Given the description of an element on the screen output the (x, y) to click on. 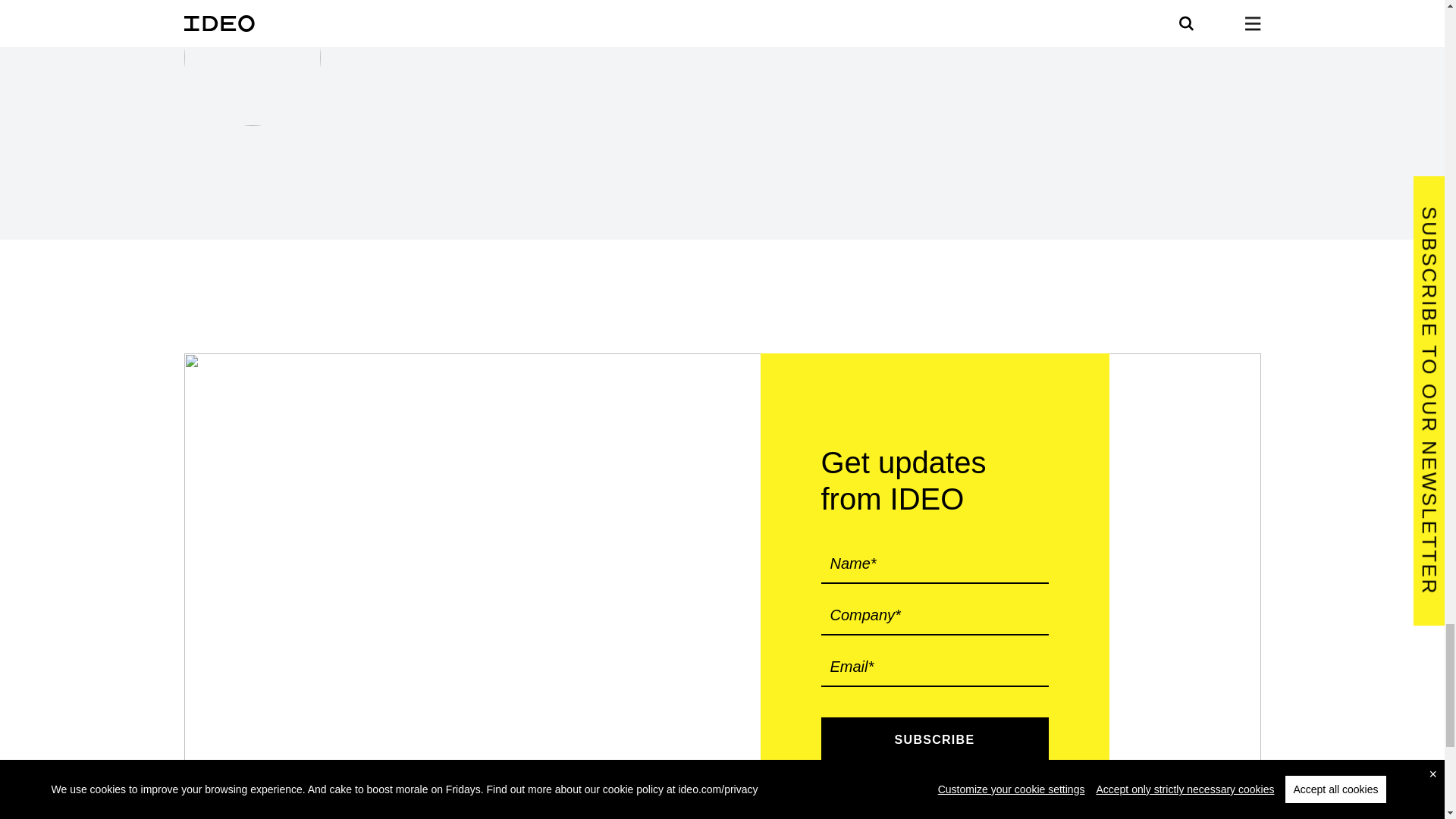
SUBSCRIBE (934, 739)
SUBSCRIBE (934, 739)
